Given the description of an element on the screen output the (x, y) to click on. 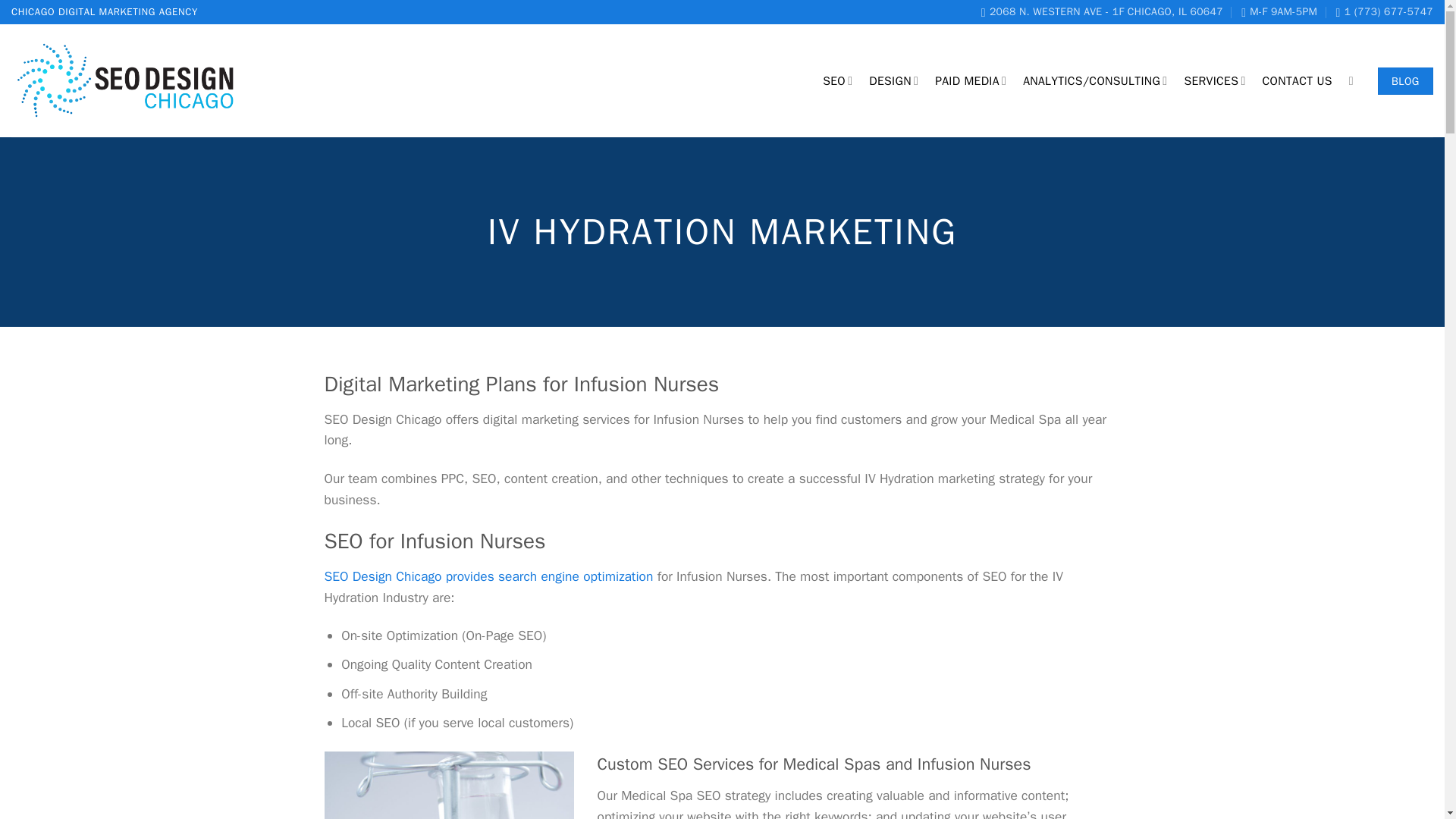
2068 N. WESTERN AVE - 1F CHICAGO, IL 60647 (1102, 12)
SEO Design Chicago - SEO Design Chicago (127, 81)
SEO Design Chicago (1102, 12)
PAID MEDIA (970, 80)
DESIGN (893, 80)
M-F 9AM-5PM (1279, 12)
SEO (836, 80)
